Given the description of an element on the screen output the (x, y) to click on. 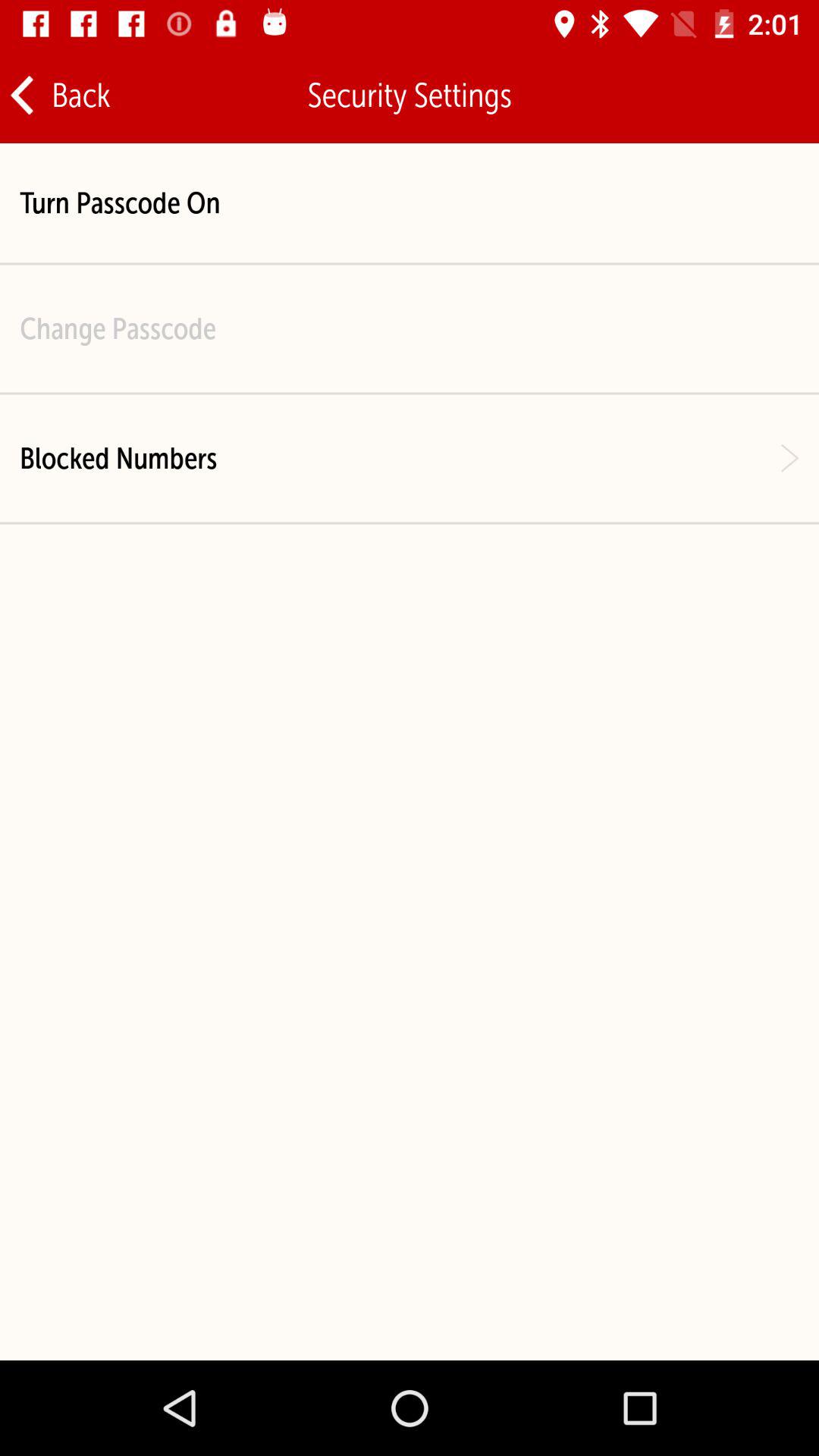
launch the icon above change passcode (119, 202)
